Given the description of an element on the screen output the (x, y) to click on. 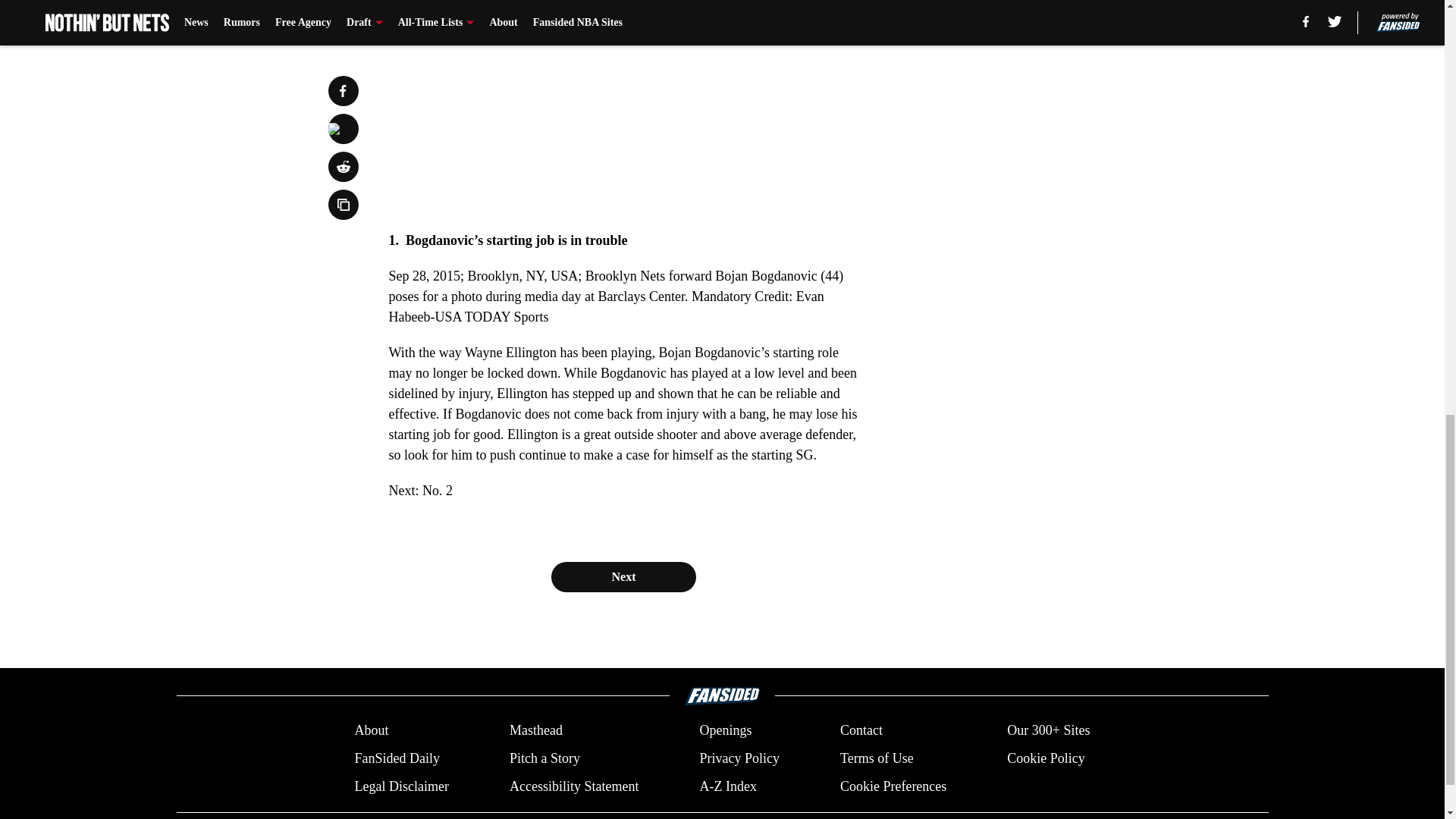
About (370, 730)
FanSided Daily (396, 758)
Openings (724, 730)
A-Z Index (726, 786)
Legal Disclaimer (400, 786)
Cookie Policy (1045, 758)
Pitch a Story (544, 758)
Masthead (535, 730)
Cookie Preferences (893, 786)
Terms of Use (877, 758)
